Given the description of an element on the screen output the (x, y) to click on. 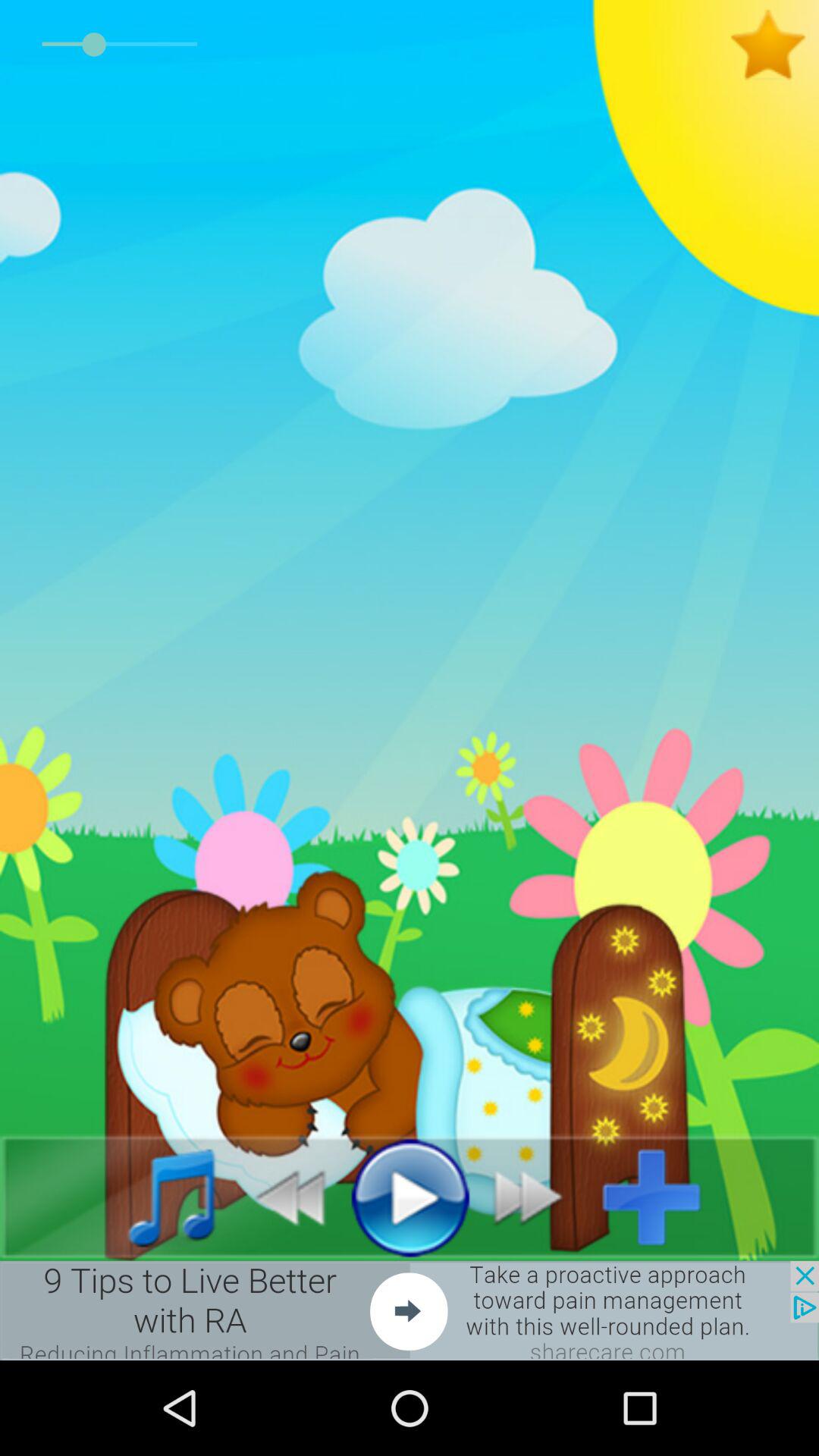
go to play (409, 1196)
